Given the description of an element on the screen output the (x, y) to click on. 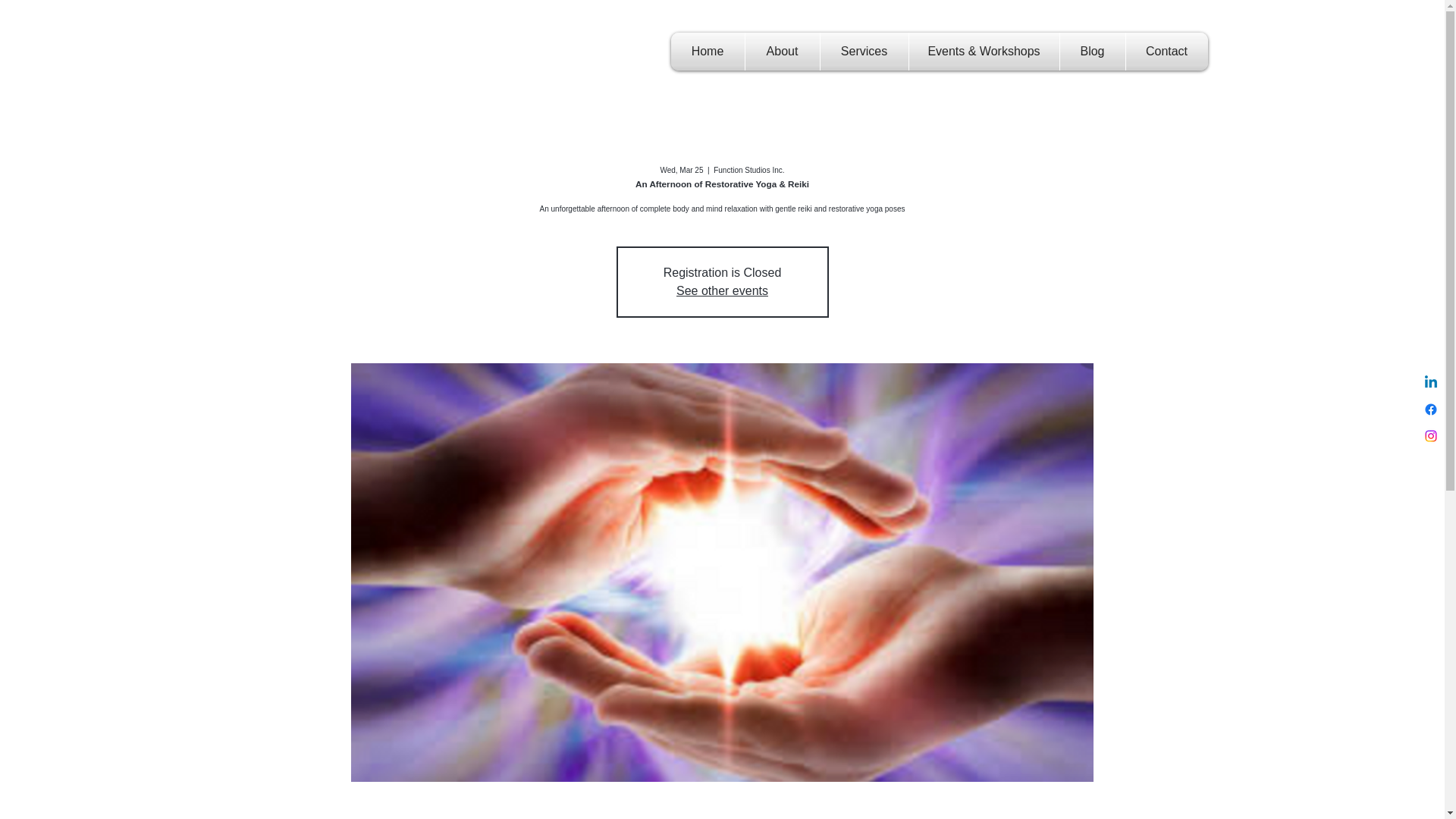
Blog (1092, 51)
See other events (722, 290)
Home (706, 51)
Contact (1166, 51)
Services (864, 51)
About (781, 51)
